Given the description of an element on the screen output the (x, y) to click on. 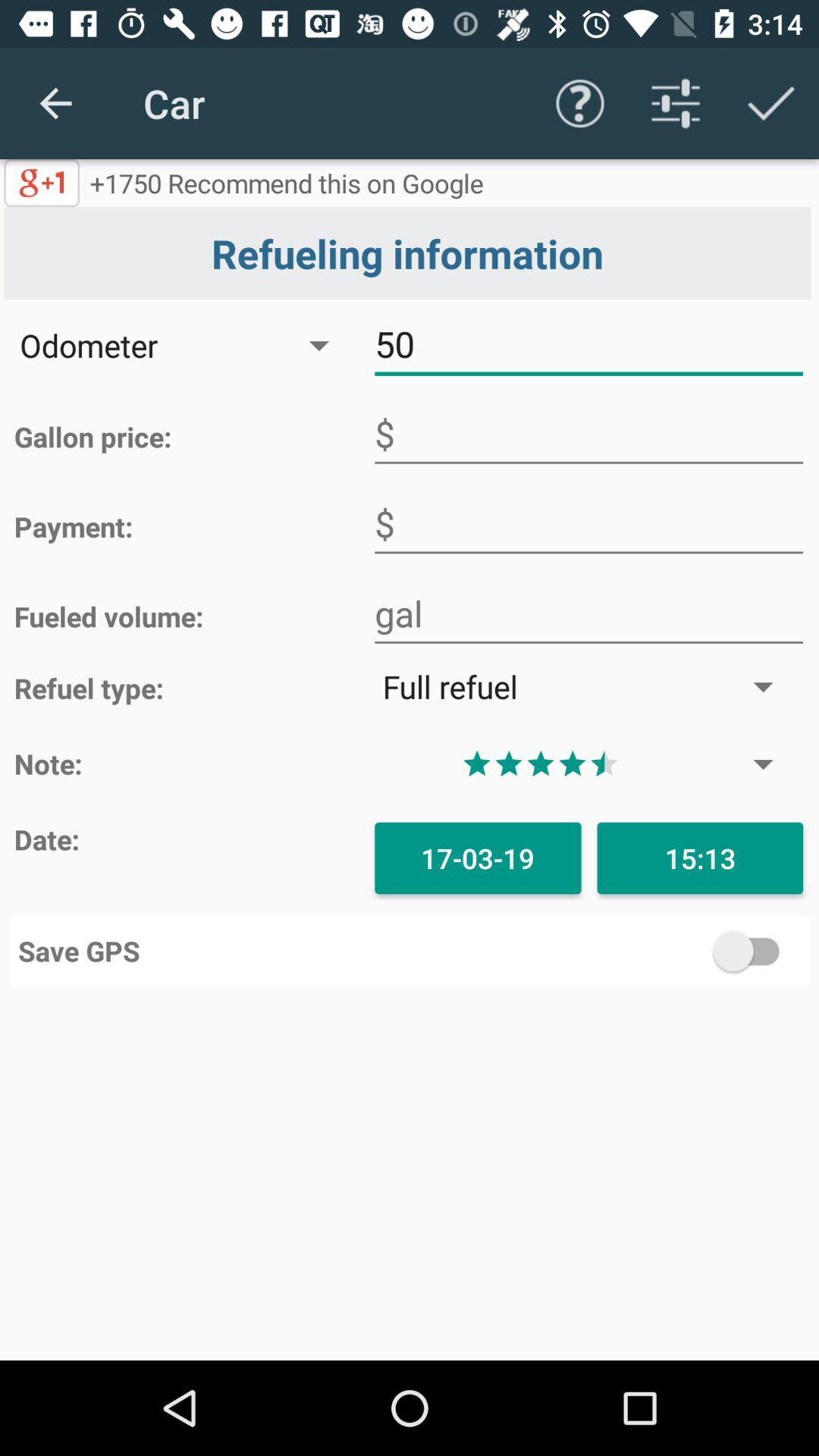
write price (588, 434)
